Given the description of an element on the screen output the (x, y) to click on. 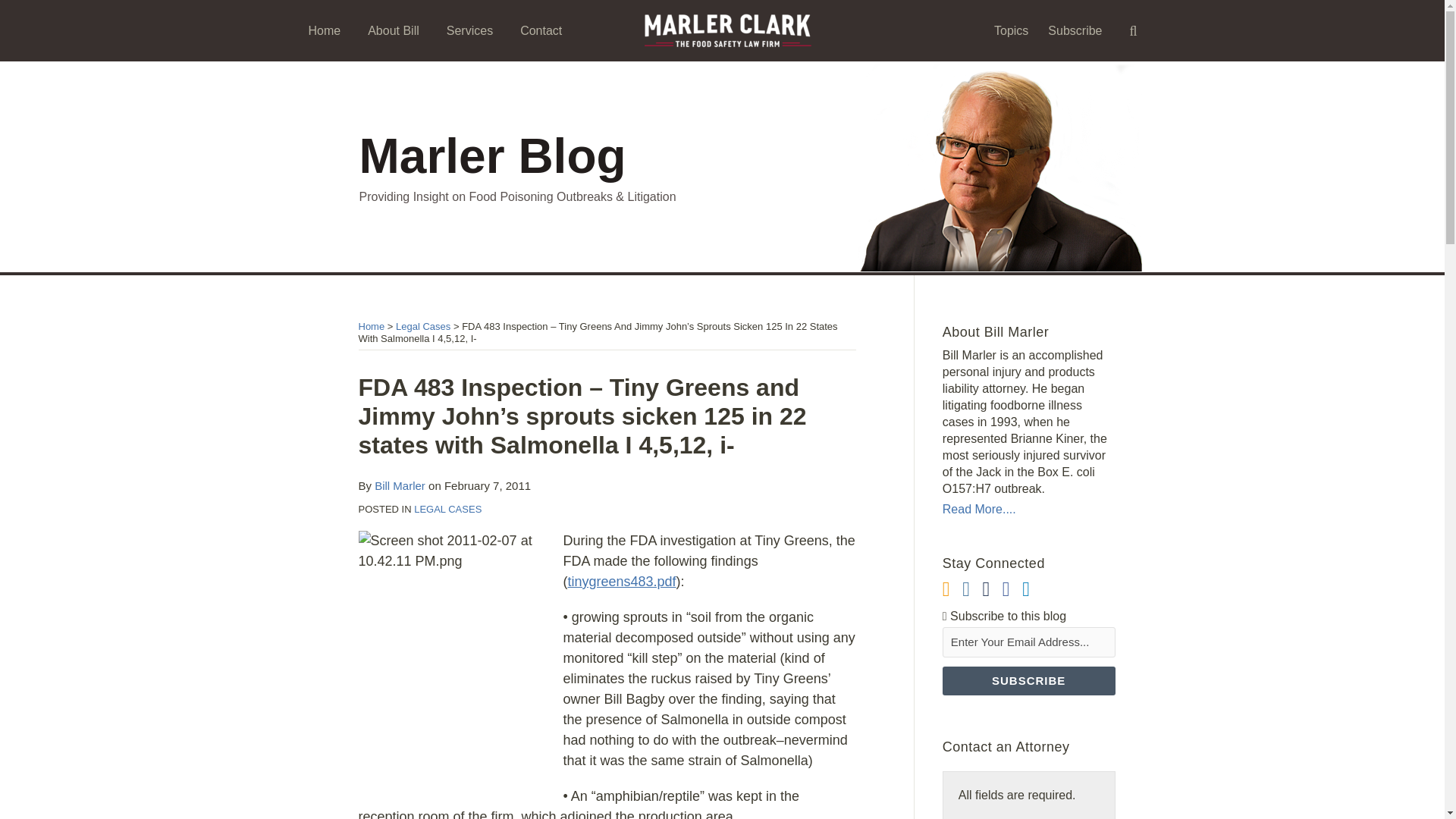
Home (323, 30)
Subscribe (1075, 30)
Home (371, 326)
About Bill (393, 30)
LEGAL CASES (447, 509)
Marler Blog (492, 155)
Legal Cases (422, 326)
Bill Marler (399, 485)
Contact (540, 30)
Subscribe (1028, 680)
